Given the description of an element on the screen output the (x, y) to click on. 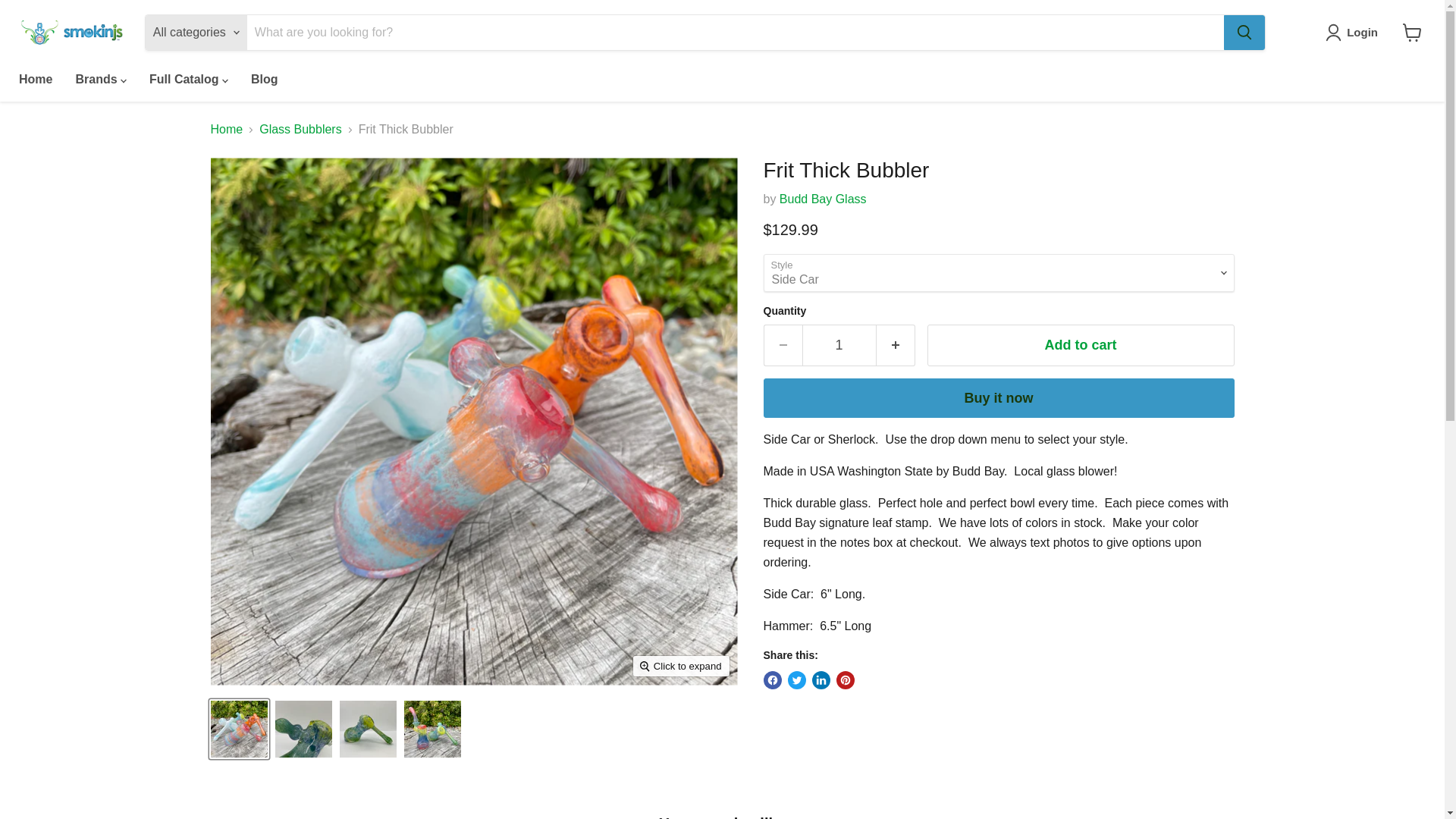
Budd Bay Glass (822, 198)
Home (35, 79)
Login (1354, 32)
View cart (1411, 32)
1 (839, 345)
